Given the description of an element on the screen output the (x, y) to click on. 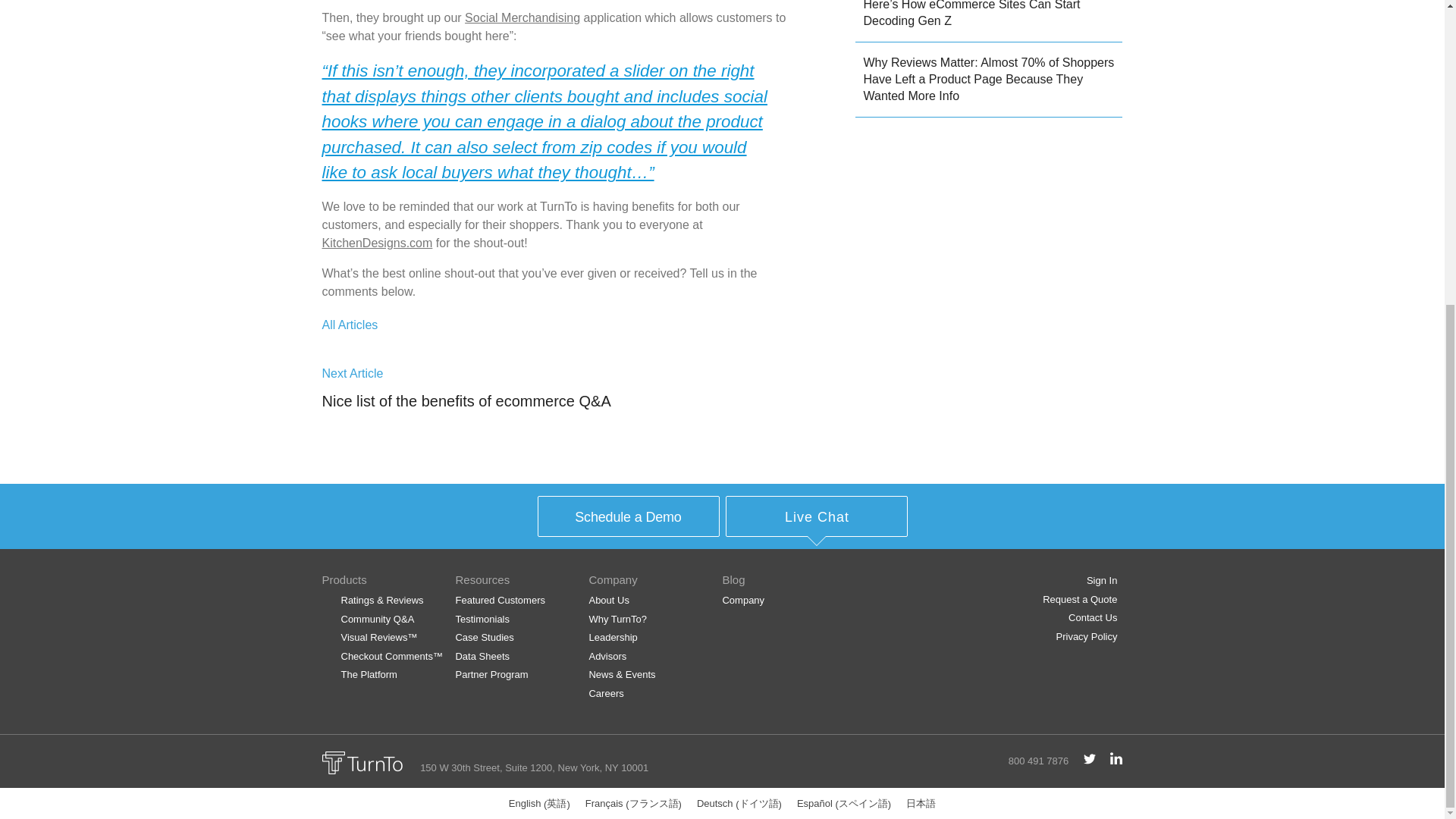
All Articles (349, 324)
The Platform (368, 674)
Next Article (351, 373)
Featured Customers (499, 600)
Social Merchandising (521, 17)
KitchenDesigns.com (376, 242)
Schedule a Demo (628, 516)
Live Chat (817, 516)
